Given the description of an element on the screen output the (x, y) to click on. 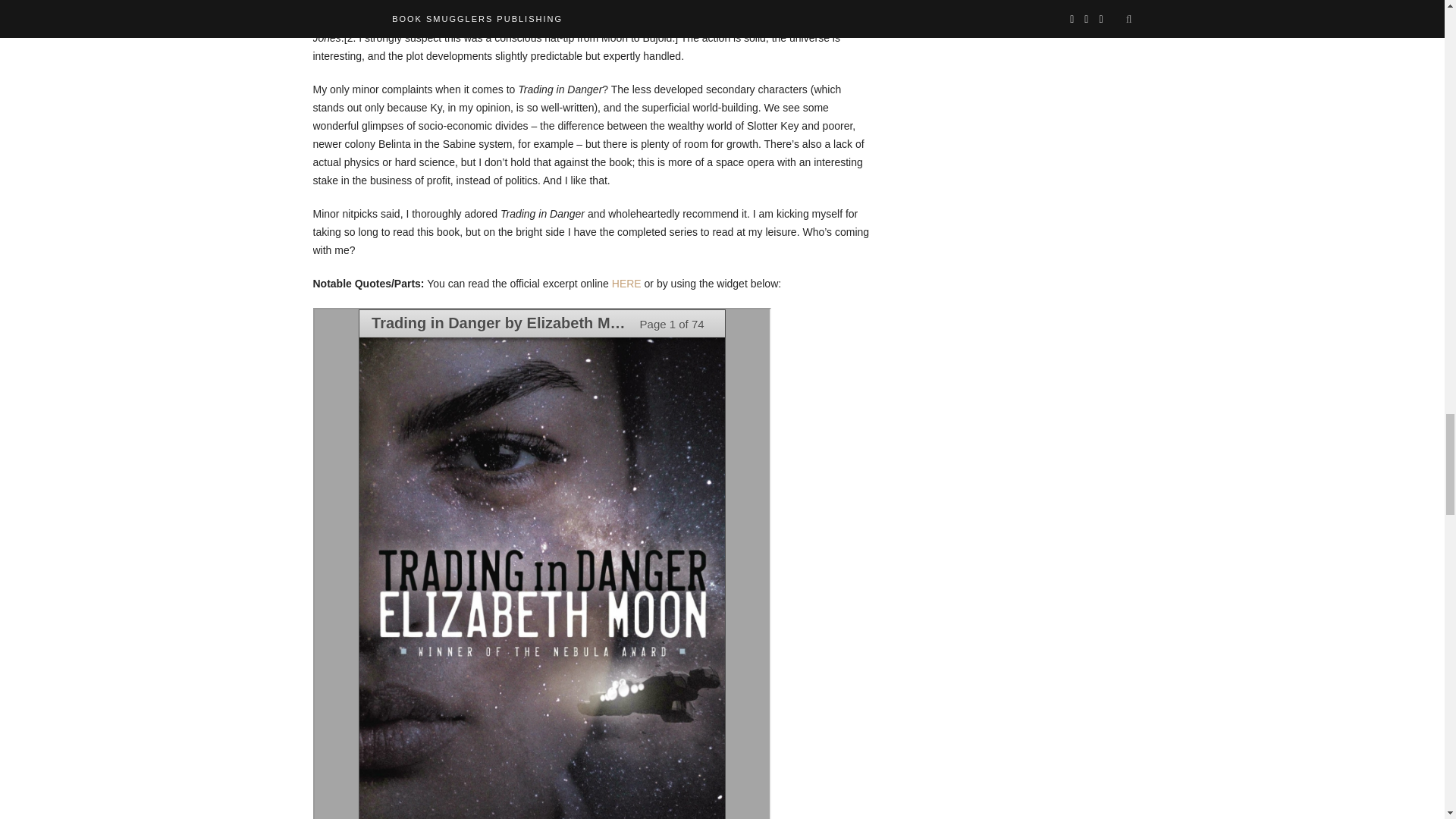
HERE (626, 283)
